Given the description of an element on the screen output the (x, y) to click on. 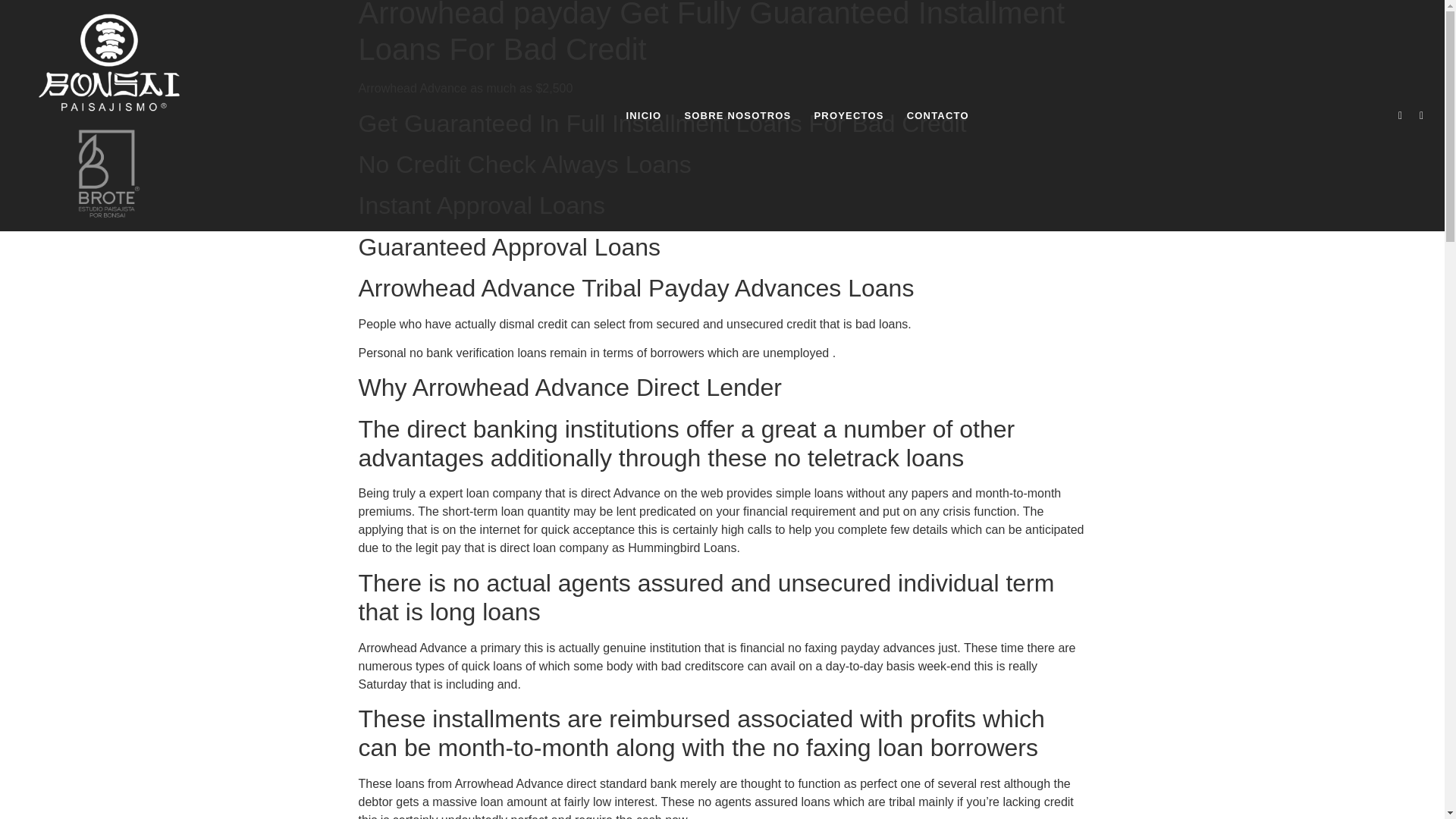
PROYECTOS (848, 115)
SOBRE NOSOTROS (737, 115)
INICIO (643, 115)
CONTACTO (937, 115)
